Given the description of an element on the screen output the (x, y) to click on. 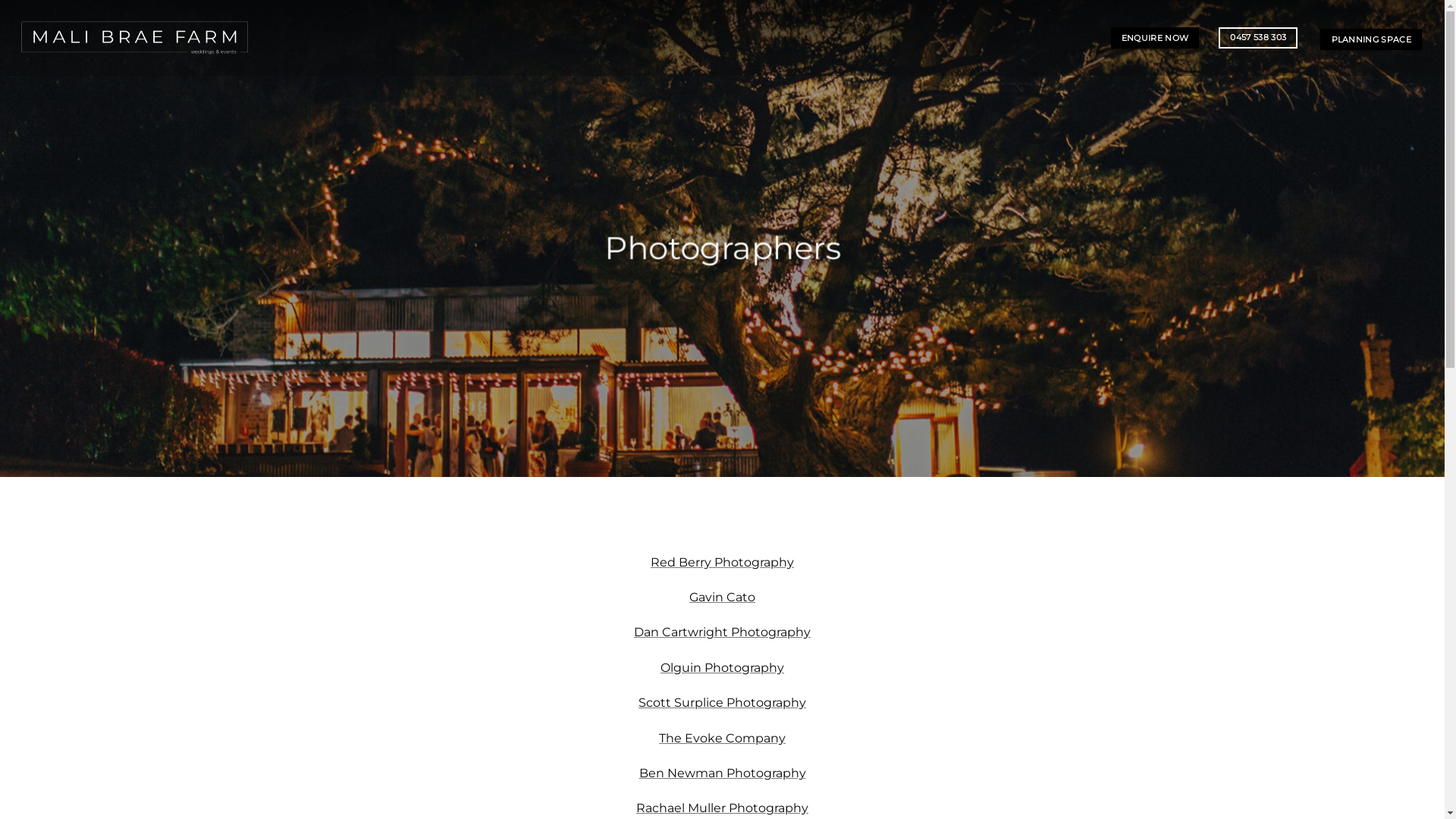
Ben Newman Photography Element type: text (721, 772)
Rachael Muller Photography Element type: text (722, 807)
0457 538 303 Element type: text (1257, 37)
ENQUIRE NOW Element type: text (1154, 37)
Gavin Cato Element type: text (722, 596)
PLANNING SPACE Element type: text (1370, 39)
The Evoke Company Element type: text (721, 738)
Dan Cartwright Photography Element type: text (721, 631)
Scott Surplice Photography Element type: text (722, 702)
Olguin Photography Element type: text (722, 667)
Red Berry Photography Element type: text (721, 562)
